Given the description of an element on the screen output the (x, y) to click on. 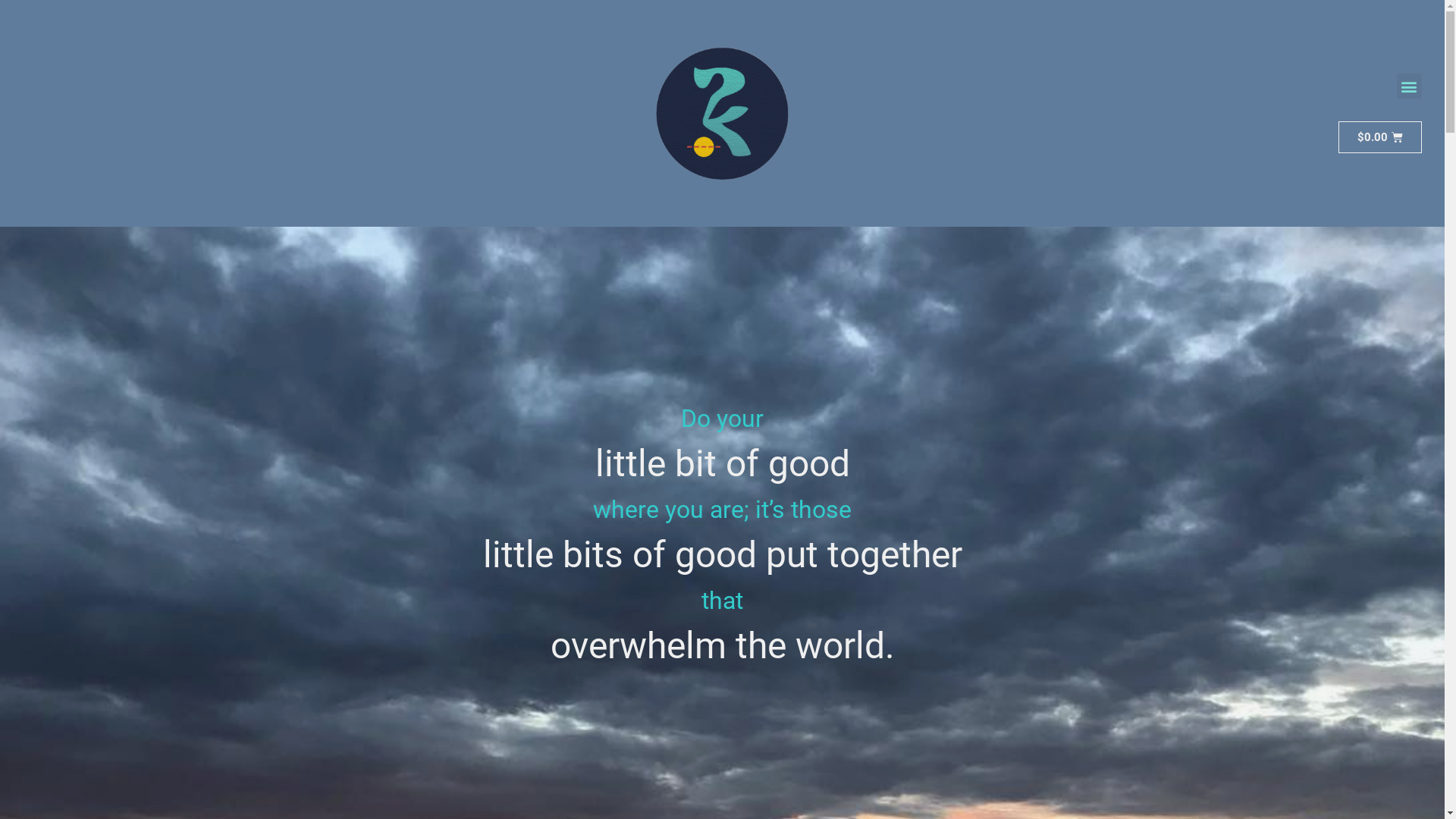
$0.00 Element type: text (1379, 137)
